Given the description of an element on the screen output the (x, y) to click on. 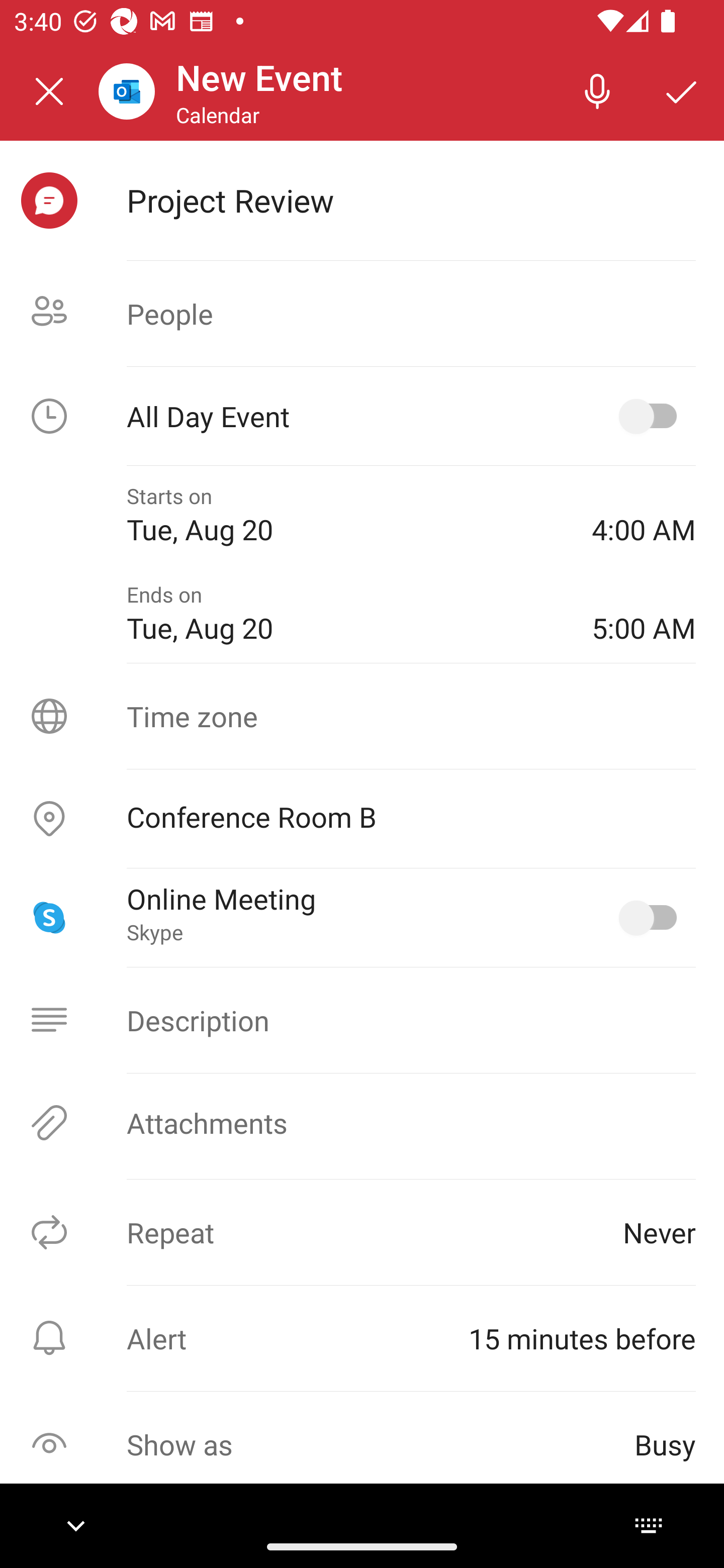
Close (49, 91)
Save (681, 90)
Project Review (410, 200)
review selected, event icon picker (48, 200)
People (362, 313)
All Day Event (362, 415)
Starts on Tue, Aug 20 (344, 514)
4:00 AM (643, 514)
Ends on Tue, Aug 20 (344, 613)
5:00 AM (643, 613)
Time zone (362, 715)
Location, Conference Room B Conference Room B (362, 818)
Online Meeting, Skype selected (651, 917)
Description (362, 1019)
Attachments (362, 1122)
Repeat Never (362, 1232)
Alert ⁨15 minutes before (362, 1337)
Show as Busy (362, 1444)
